Given the description of an element on the screen output the (x, y) to click on. 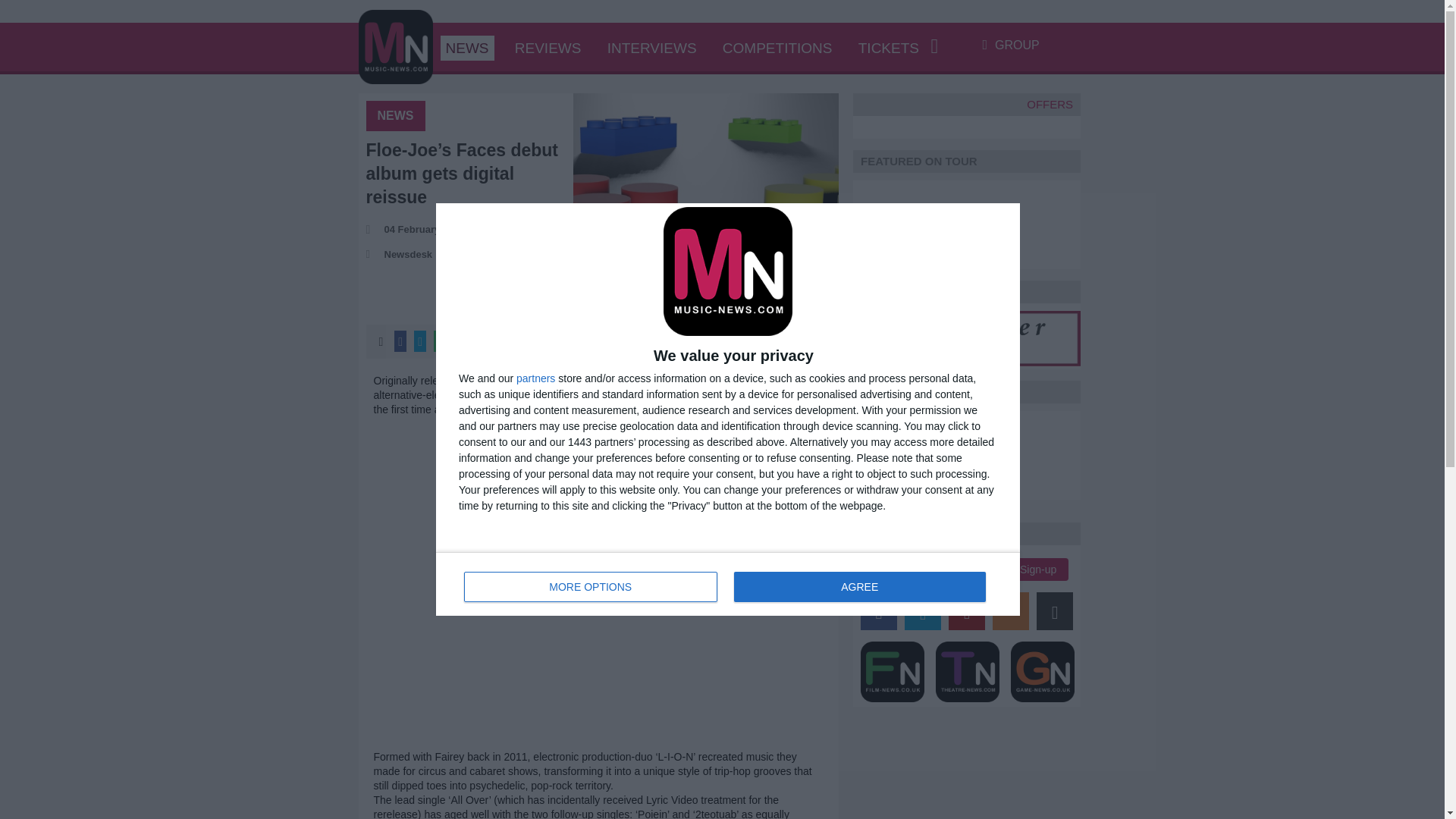
INTERVIEWS (651, 49)
MORE OPTIONS (590, 586)
TICKETS (888, 49)
REVIEWS (547, 49)
NEWS (727, 583)
partners (466, 49)
AGREE (535, 378)
YouTube video player (859, 586)
GROUP (598, 553)
COMPETITIONS (1010, 44)
